Given the description of an element on the screen output the (x, y) to click on. 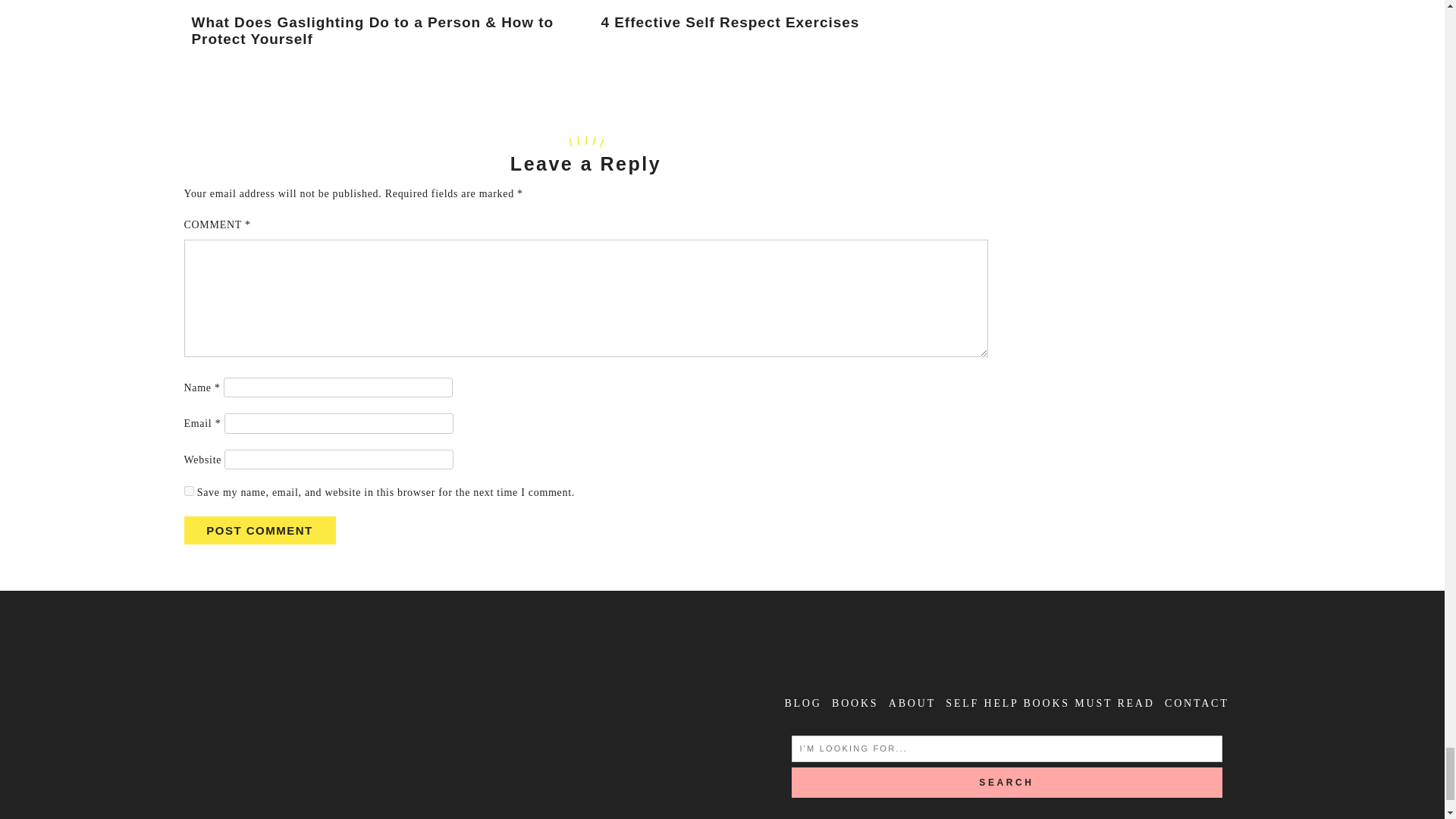
yes (188, 491)
Post Comment (258, 530)
Search (1007, 782)
Search (1007, 782)
